Given the description of an element on the screen output the (x, y) to click on. 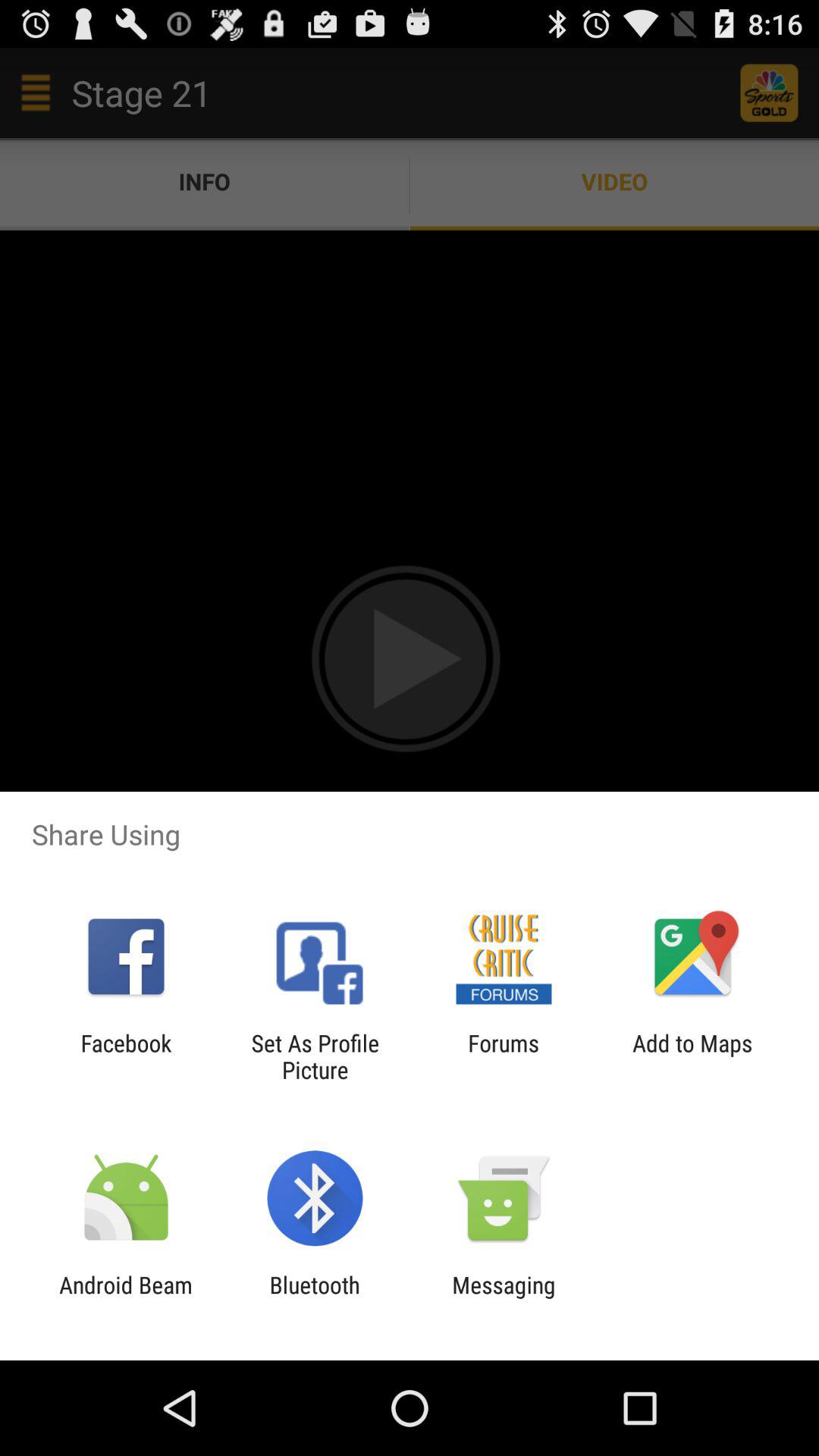
tap messaging (503, 1298)
